Given the description of an element on the screen output the (x, y) to click on. 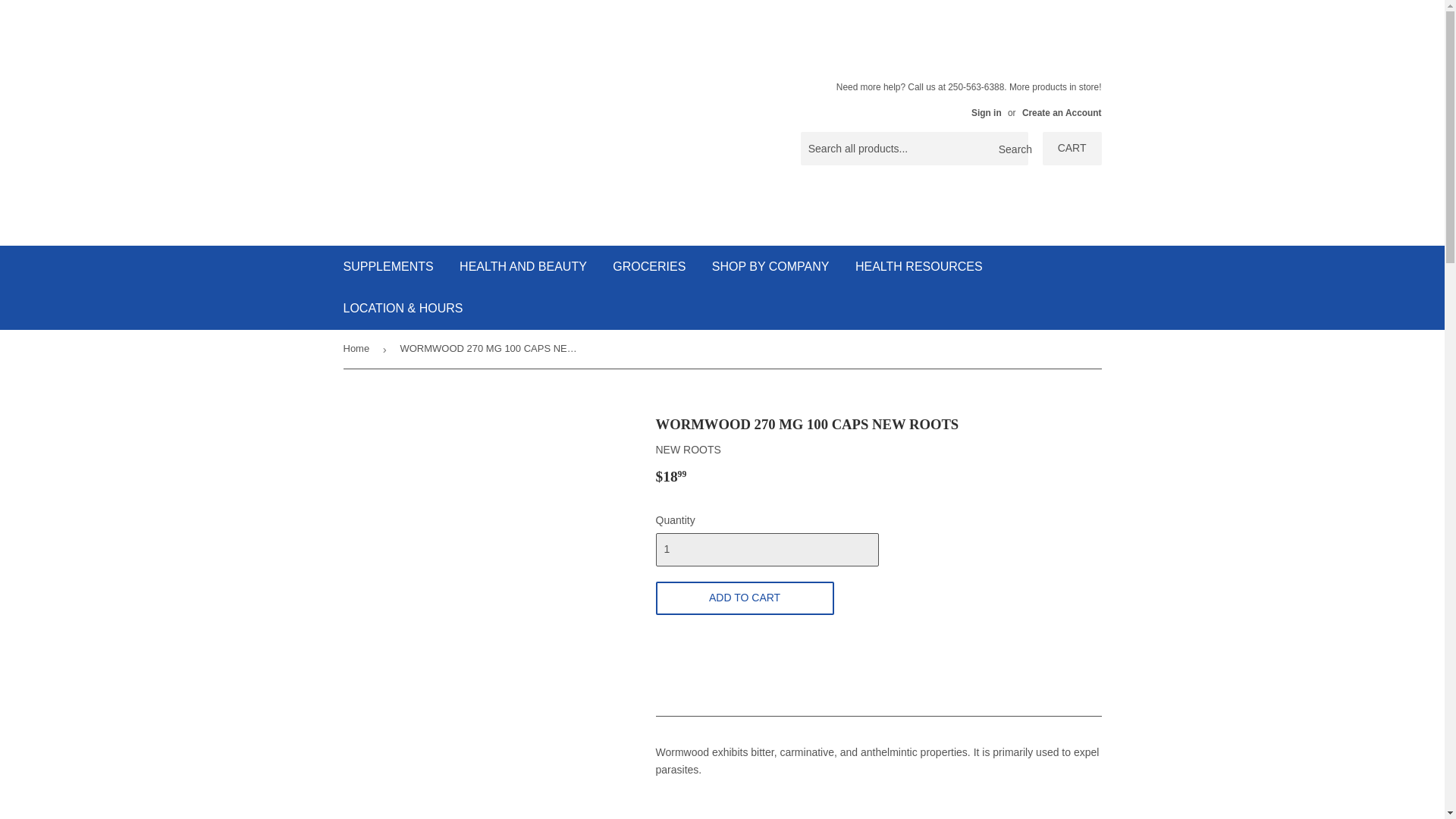
GROCERIES (649, 266)
SHOP BY COMPANY (770, 266)
ADD TO CART (743, 598)
HEALTH AND BEAUTY (523, 266)
SUPPLEMENTS (388, 266)
Search (1010, 149)
HEALTH RESOURCES (919, 266)
CART (1072, 148)
Create an Account (1062, 112)
Sign in (986, 112)
1 (766, 549)
